Given the description of an element on the screen output the (x, y) to click on. 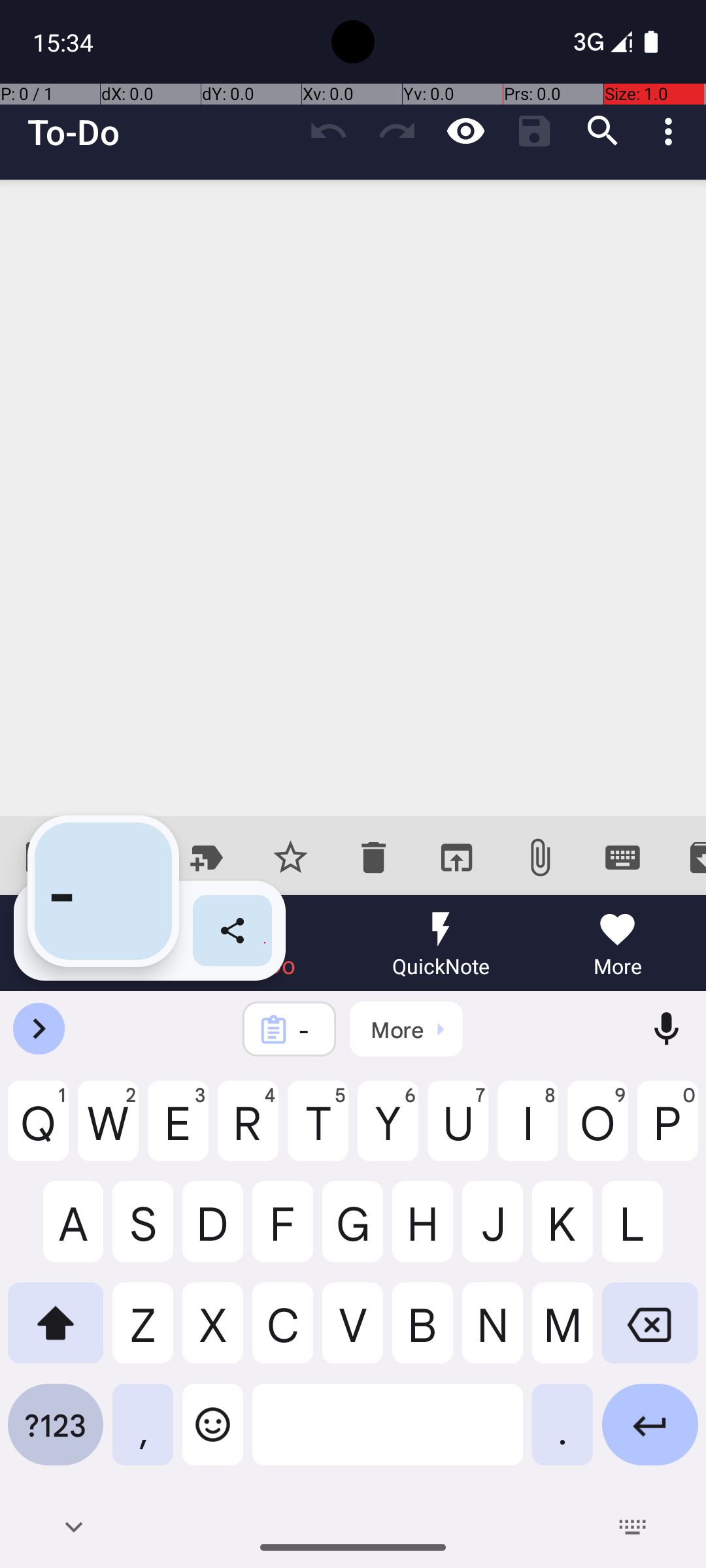
Toggle done Element type: android.widget.ImageView (41, 857)
Add context Element type: android.widget.ImageView (124, 857)
Add project Element type: android.widget.ImageView (207, 857)
Priority Element type: android.widget.ImageView (290, 857)
Archive completed tasks Element type: android.widget.ImageView (685, 857)
Q Element type: android.widget.FrameLayout (38, 1130)
E Element type: android.widget.FrameLayout (178, 1130)
R Element type: android.widget.FrameLayout (248, 1130)
Y Element type: android.widget.FrameLayout (387, 1130)
U Element type: android.widget.FrameLayout (457, 1130)
I Element type: android.widget.FrameLayout (527, 1130)
O Element type: android.widget.FrameLayout (597, 1130)
P Element type: android.widget.FrameLayout (667, 1130)
A Element type: android.widget.FrameLayout (55, 1231)
D Element type: android.widget.FrameLayout (212, 1231)
G Element type: android.widget.FrameLayout (352, 1231)
H Element type: android.widget.FrameLayout (422, 1231)
J Element type: android.widget.FrameLayout (492, 1231)
K Element type: android.widget.FrameLayout (562, 1231)
L Element type: android.widget.FrameLayout (649, 1231)
Z Element type: android.widget.FrameLayout (142, 1332)
X Element type: android.widget.FrameLayout (212, 1332)
C Element type: android.widget.FrameLayout (282, 1332)
V Element type: android.widget.FrameLayout (352, 1332)
B Element type: android.widget.FrameLayout (422, 1332)
N Element type: android.widget.FrameLayout (492, 1332)
-  Element type: android.widget.TextView (306, 1029)
